Given the description of an element on the screen output the (x, y) to click on. 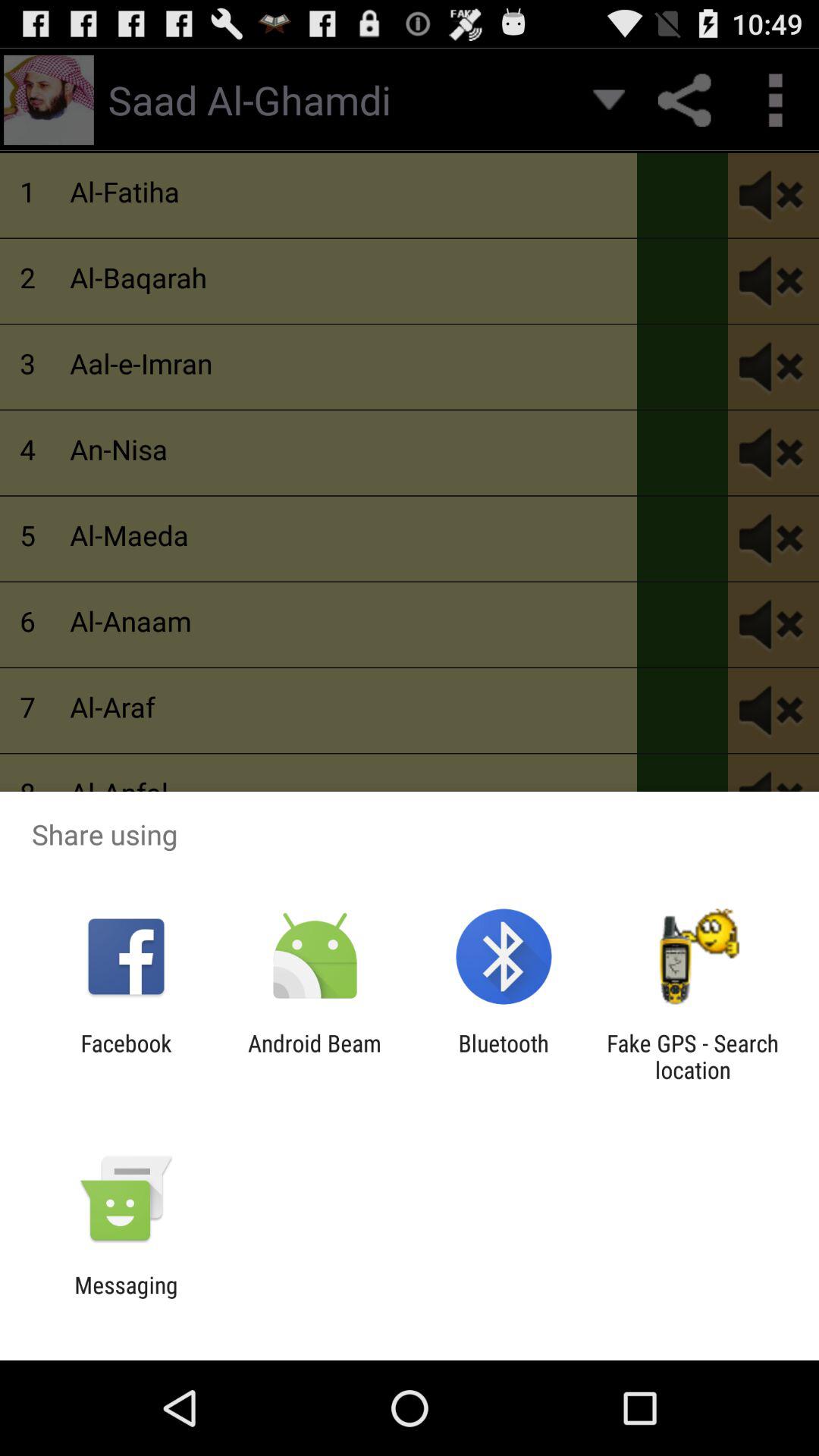
click the item next to the android beam app (503, 1056)
